Given the description of an element on the screen output the (x, y) to click on. 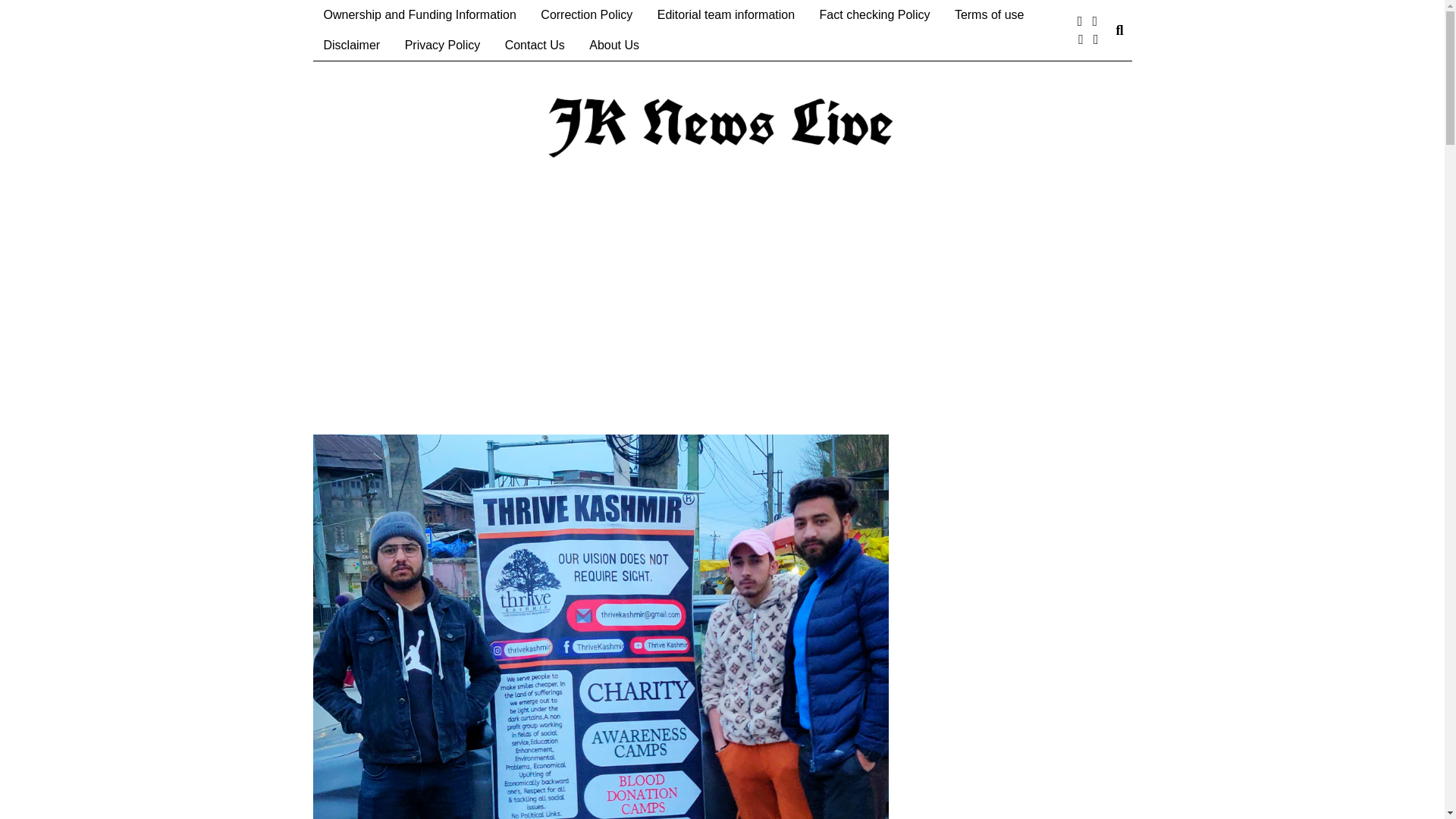
Contact Us (535, 45)
Privacy Policy (443, 45)
About Us (613, 45)
Terms of use (989, 15)
Disclaimer (351, 45)
Editorial team information (725, 15)
Ownership and Funding Information (419, 15)
Fact checking Policy (874, 15)
Correction Policy (586, 15)
